Given the description of an element on the screen output the (x, y) to click on. 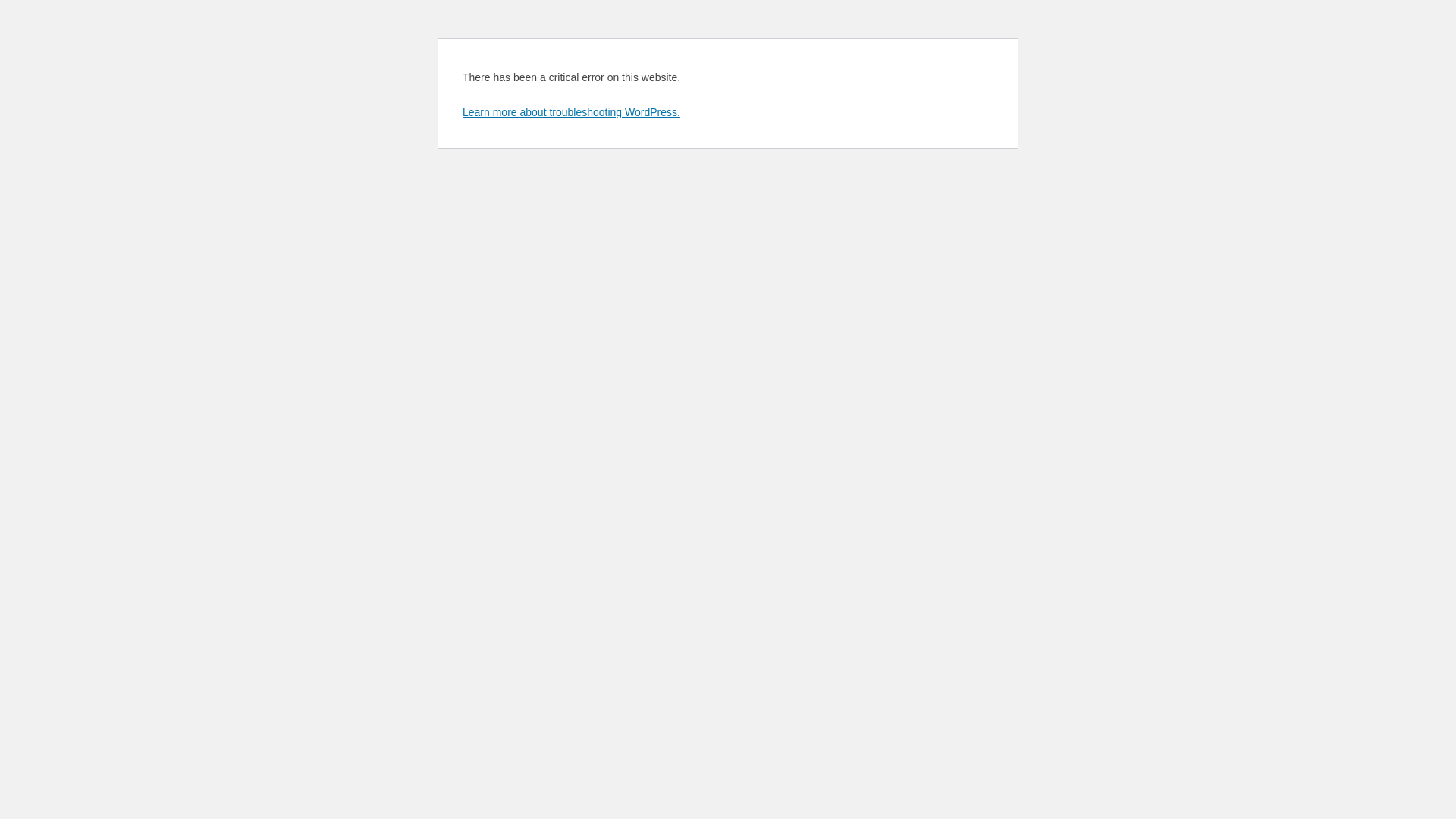
Learn more about troubleshooting WordPress. Element type: text (571, 112)
